Given the description of an element on the screen output the (x, y) to click on. 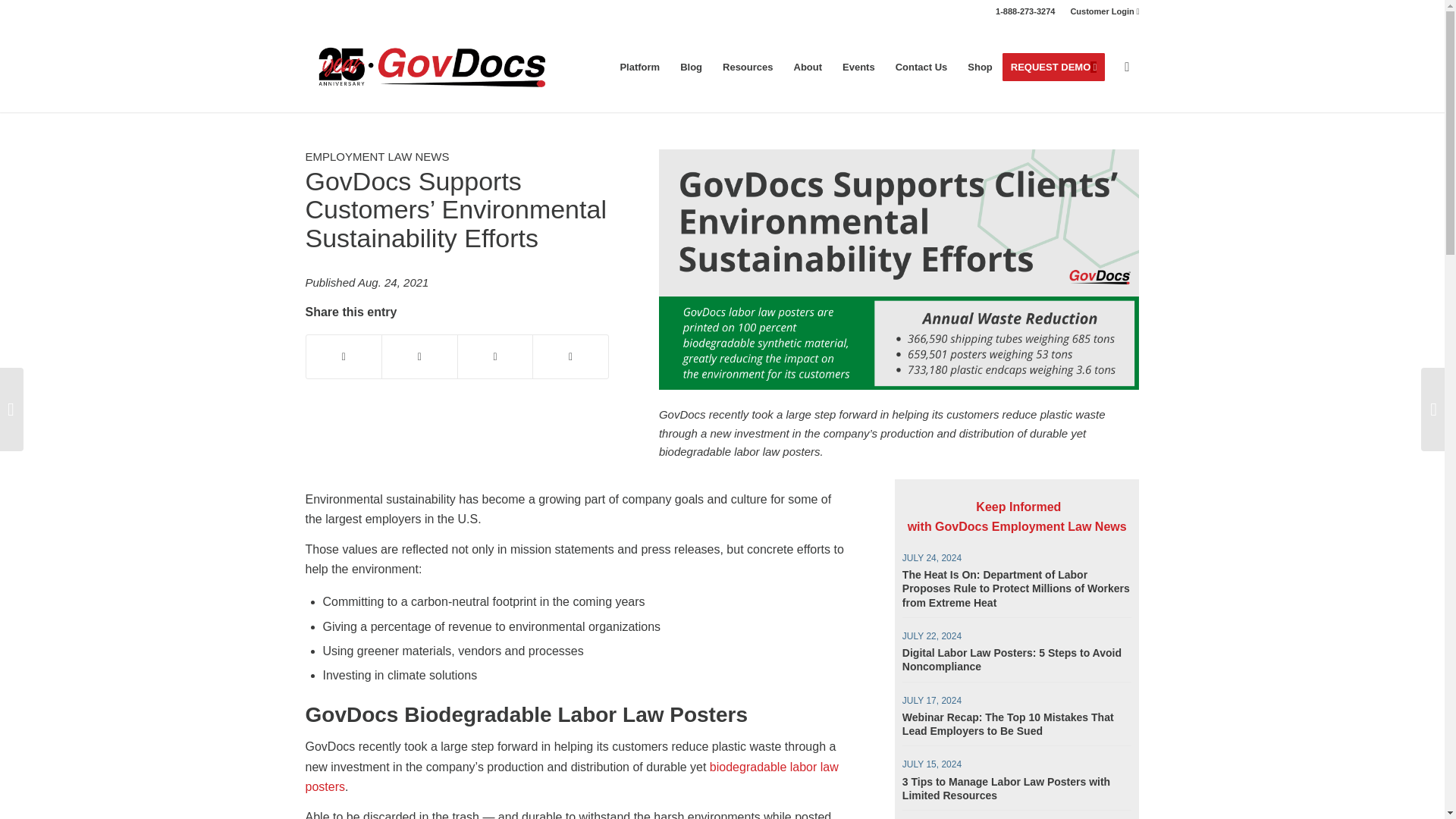
1-888-273-3274 (1024, 10)
Customer Login (1104, 11)
